Given the description of an element on the screen output the (x, y) to click on. 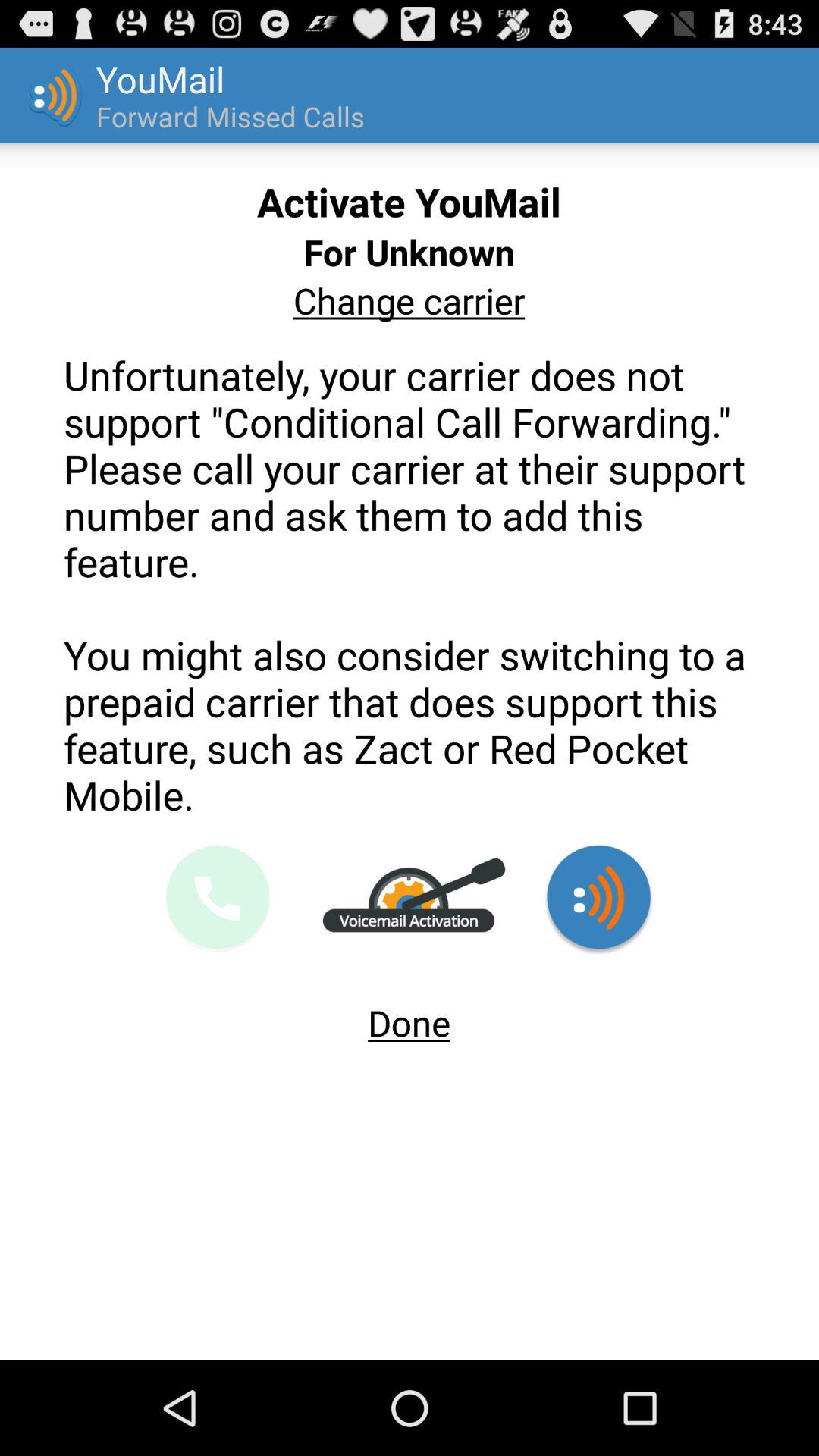
flip to change carrier (409, 300)
